Given the description of an element on the screen output the (x, y) to click on. 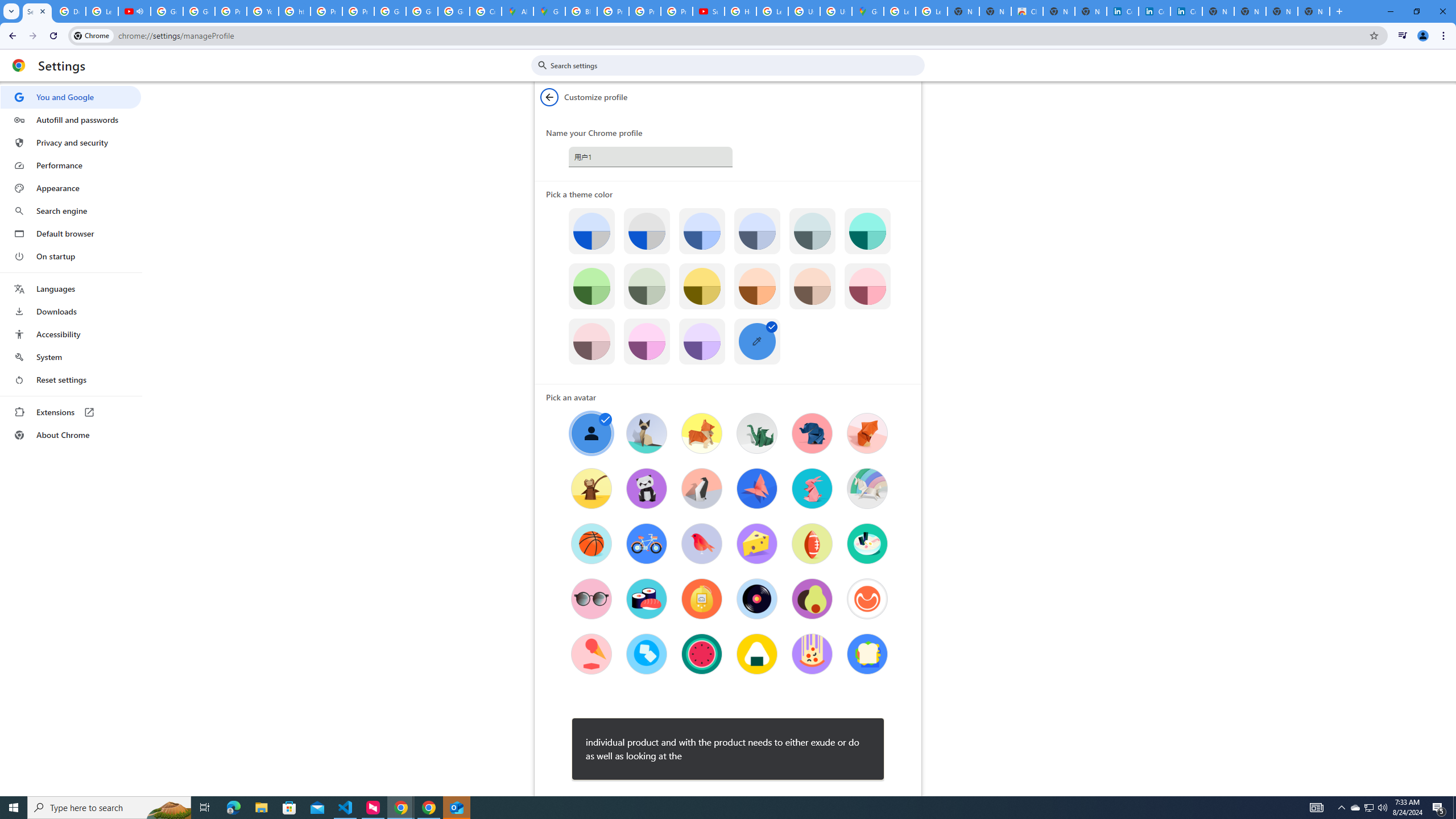
Accessibility (70, 333)
Mute tab (139, 10)
Reset settings (70, 379)
Privacy Help Center - Policies Help (644, 11)
You and Google (70, 96)
Blogger Policies and Guidelines - Transparency Center (581, 11)
Learn how to find your photos - Google Photos Help (101, 11)
How Chrome protects your passwords - Google Chrome Help (740, 11)
